Given the description of an element on the screen output the (x, y) to click on. 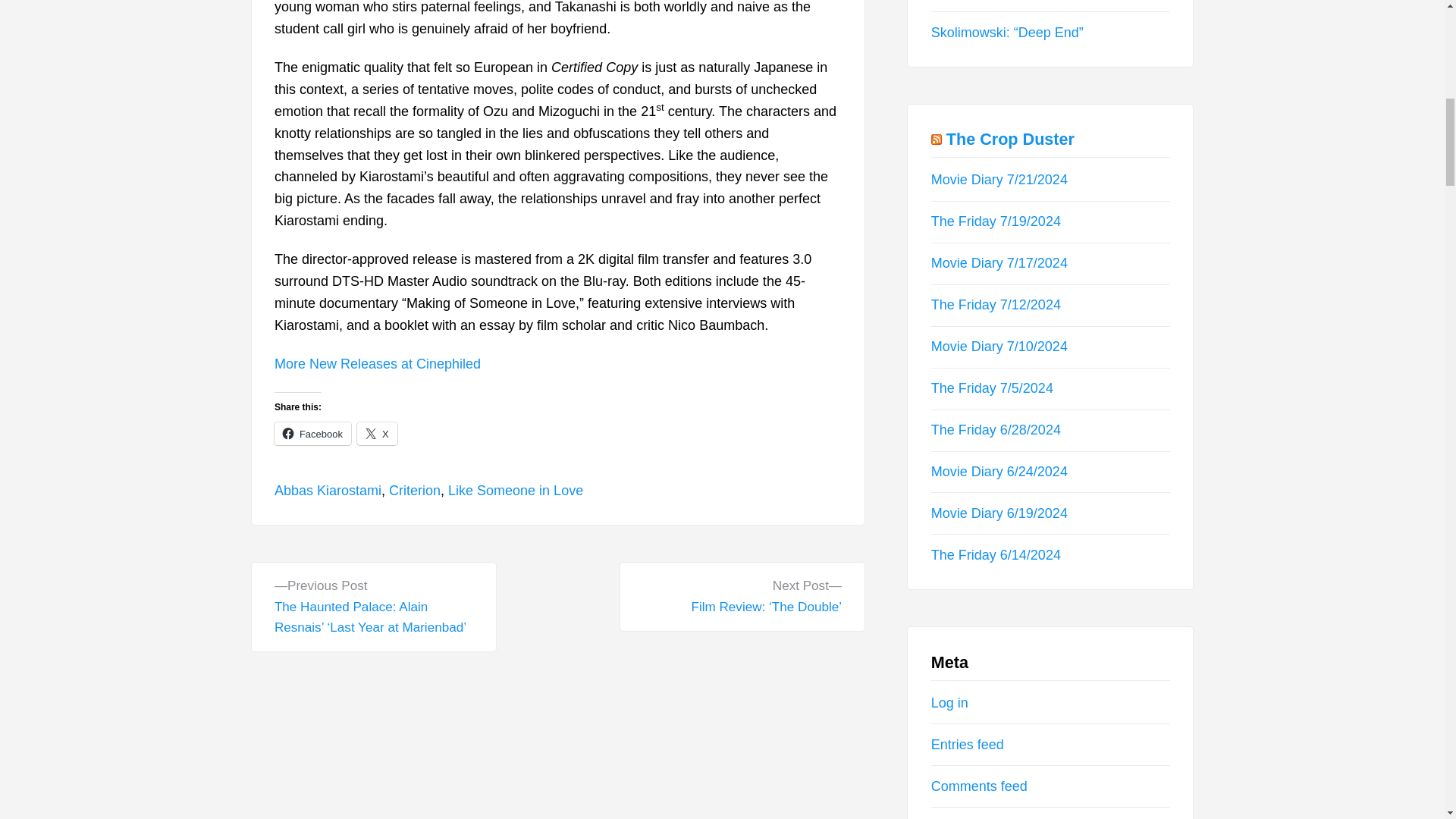
Click to share on Facebook (312, 433)
Criterion (414, 490)
Like Someone in Love (515, 490)
Abbas Kiarostami (328, 490)
Facebook (312, 433)
X (376, 433)
Click to share on X (376, 433)
More New Releases at Cinephiled (377, 363)
